Given the description of an element on the screen output the (x, y) to click on. 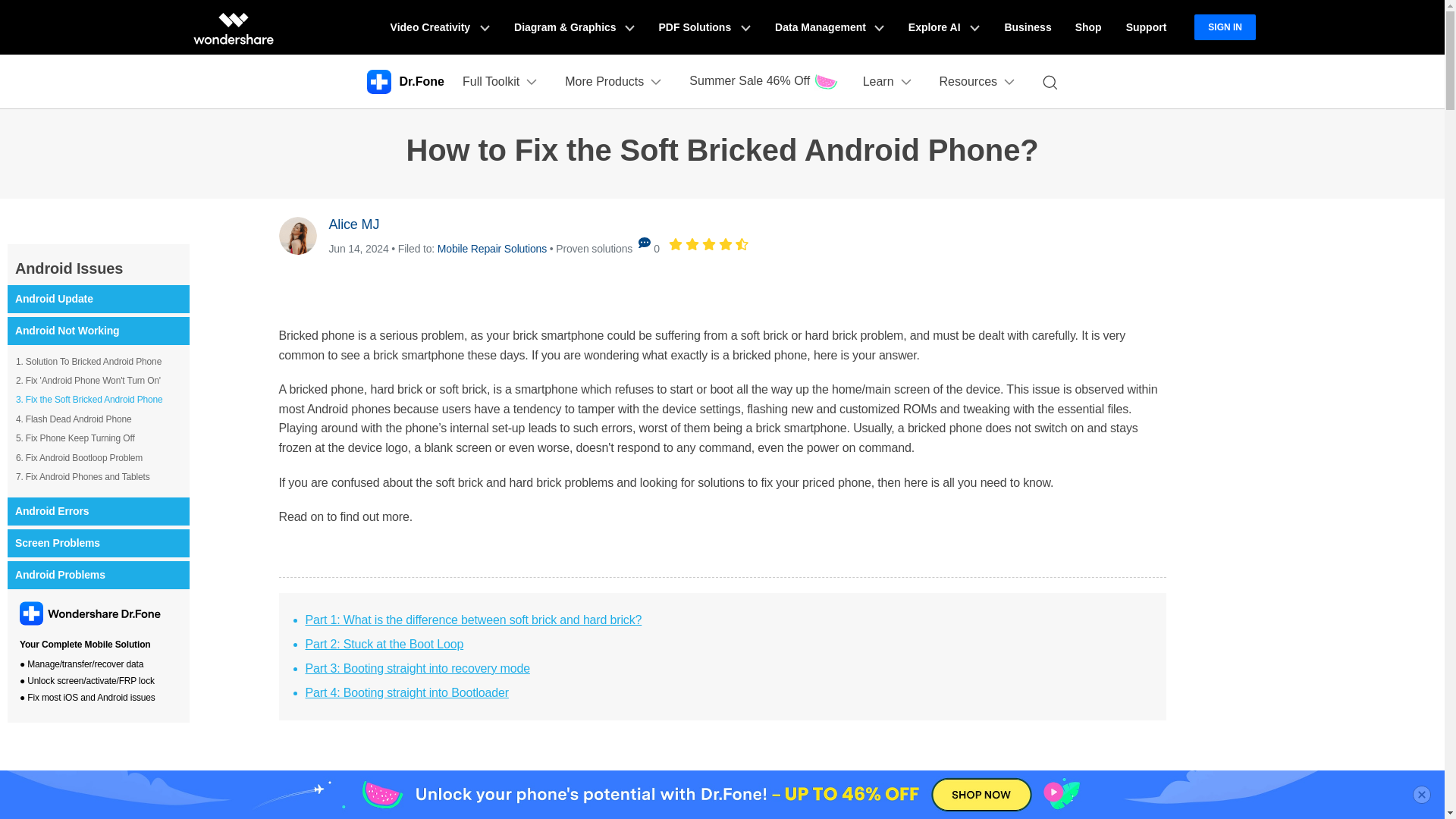
Data Management (829, 27)
Explore AI (943, 27)
Video Creativity (439, 27)
Business (1026, 27)
PDF Solutions (704, 27)
